Given the description of an element on the screen output the (x, y) to click on. 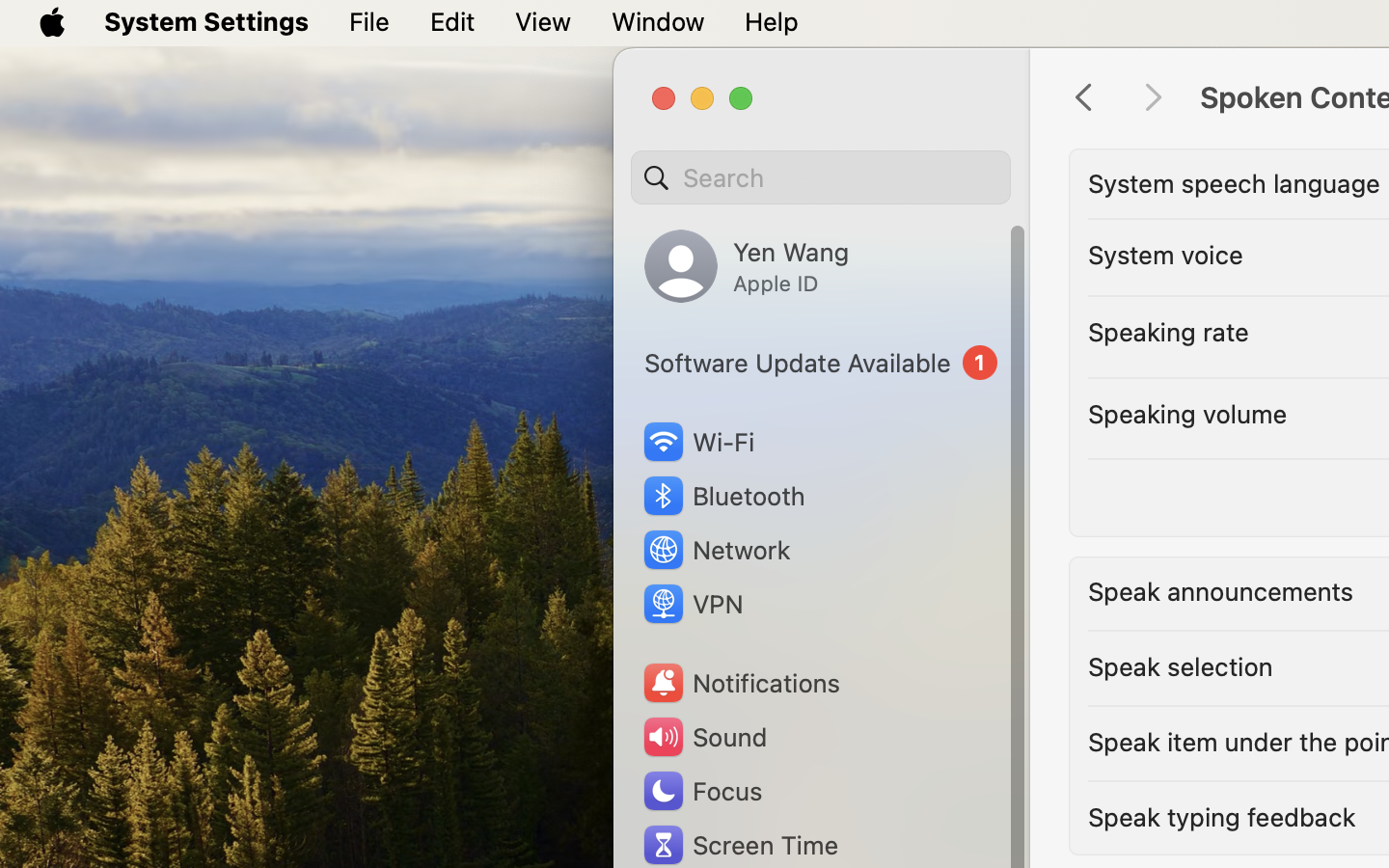
Notifications Element type: AXStaticText (740, 682)
Speak announcements Element type: AXStaticText (1221, 589)
Yen Wang, Apple ID Element type: AXStaticText (746, 265)
Speak typing feedback Element type: AXStaticText (1222, 815)
Speaking volume Element type: AXStaticText (1187, 412)
